Given the description of an element on the screen output the (x, y) to click on. 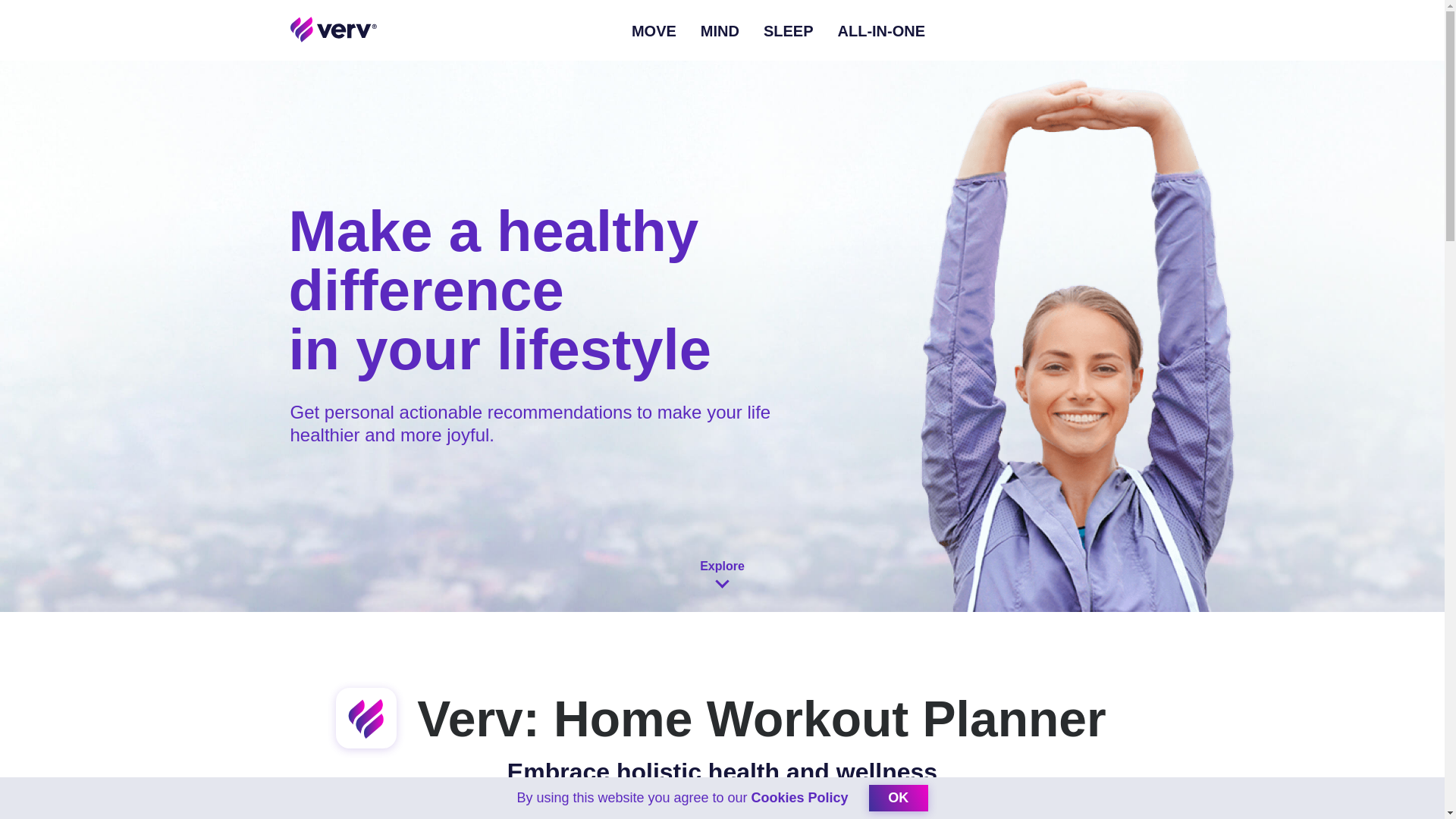
ALL-IN-ONE (882, 30)
MOVE (654, 30)
Explore (722, 582)
MIND (719, 30)
SLEEP (787, 30)
